Given the description of an element on the screen output the (x, y) to click on. 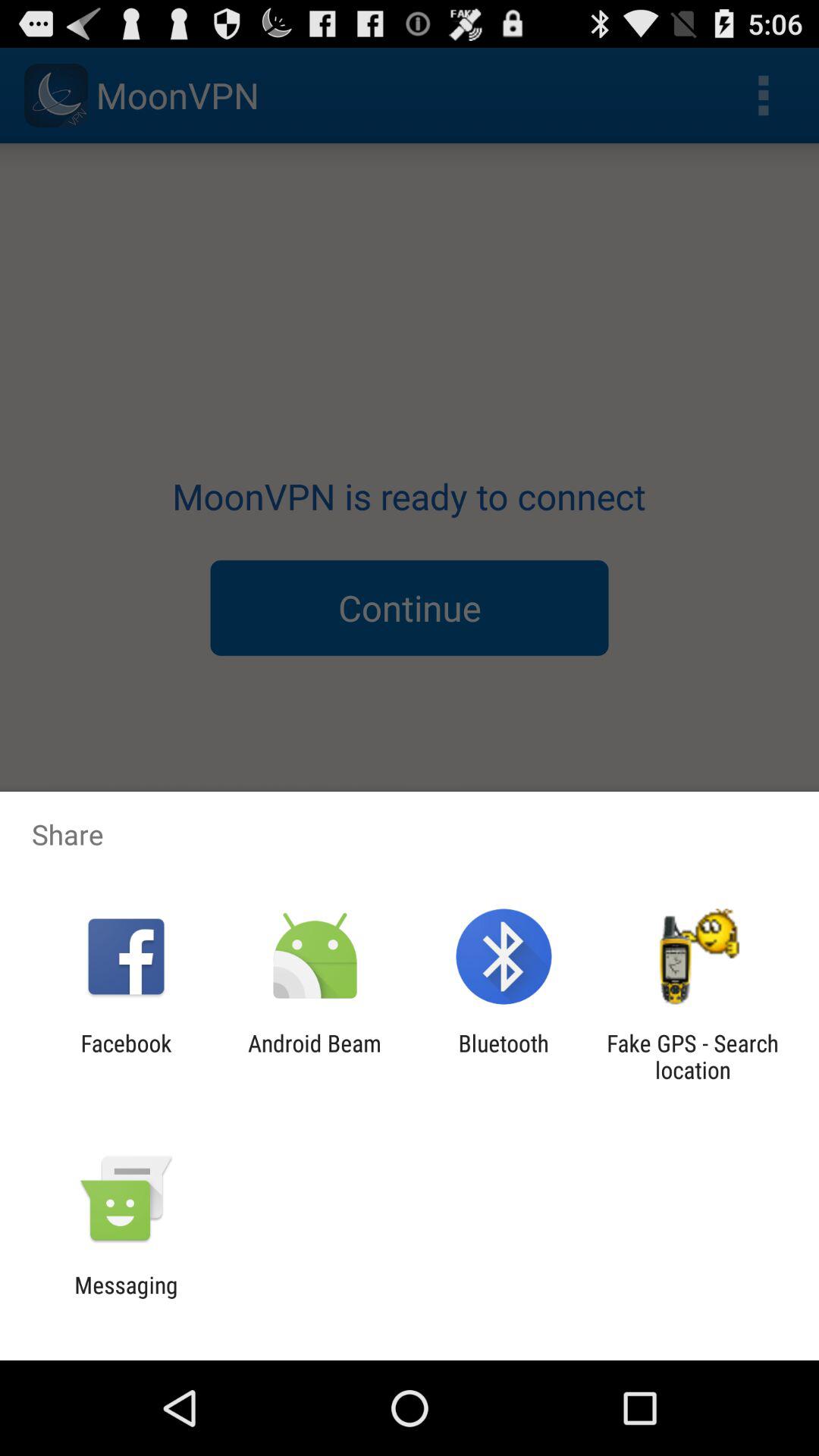
tap icon next to the facebook (314, 1056)
